Given the description of an element on the screen output the (x, y) to click on. 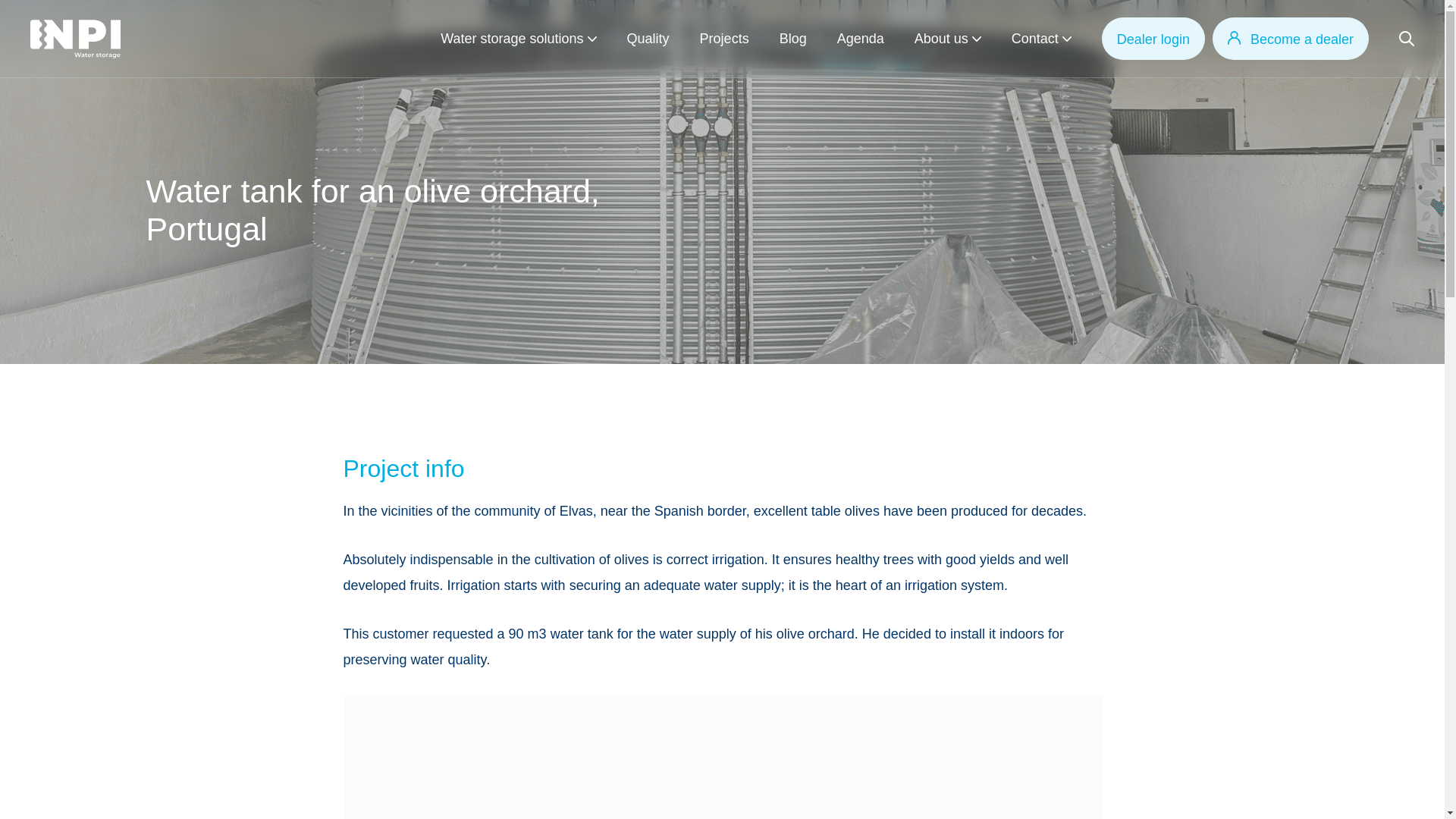
Dealer login (1153, 38)
Contact (1034, 38)
Projects (724, 37)
Blog (792, 37)
Become a dealer (1290, 38)
Water storage solutions (512, 38)
Become a dealer (1290, 38)
Quality (648, 37)
About us (941, 38)
Agenda (860, 37)
Dealer login (1153, 38)
